Given the description of an element on the screen output the (x, y) to click on. 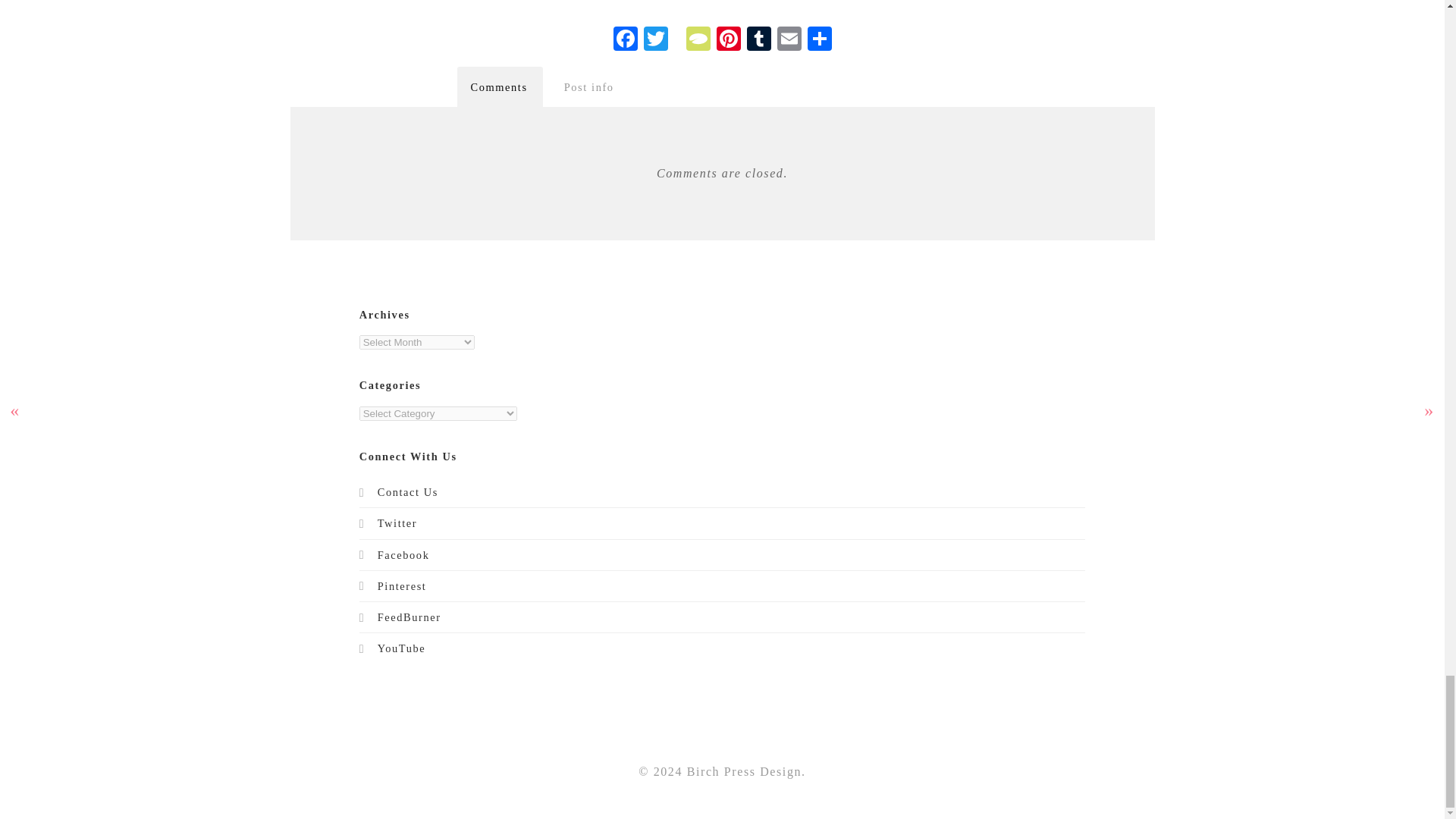
Facebook (625, 40)
Twitter (654, 40)
Pinterest (727, 40)
TypePad (697, 40)
